Given the description of an element on the screen output the (x, y) to click on. 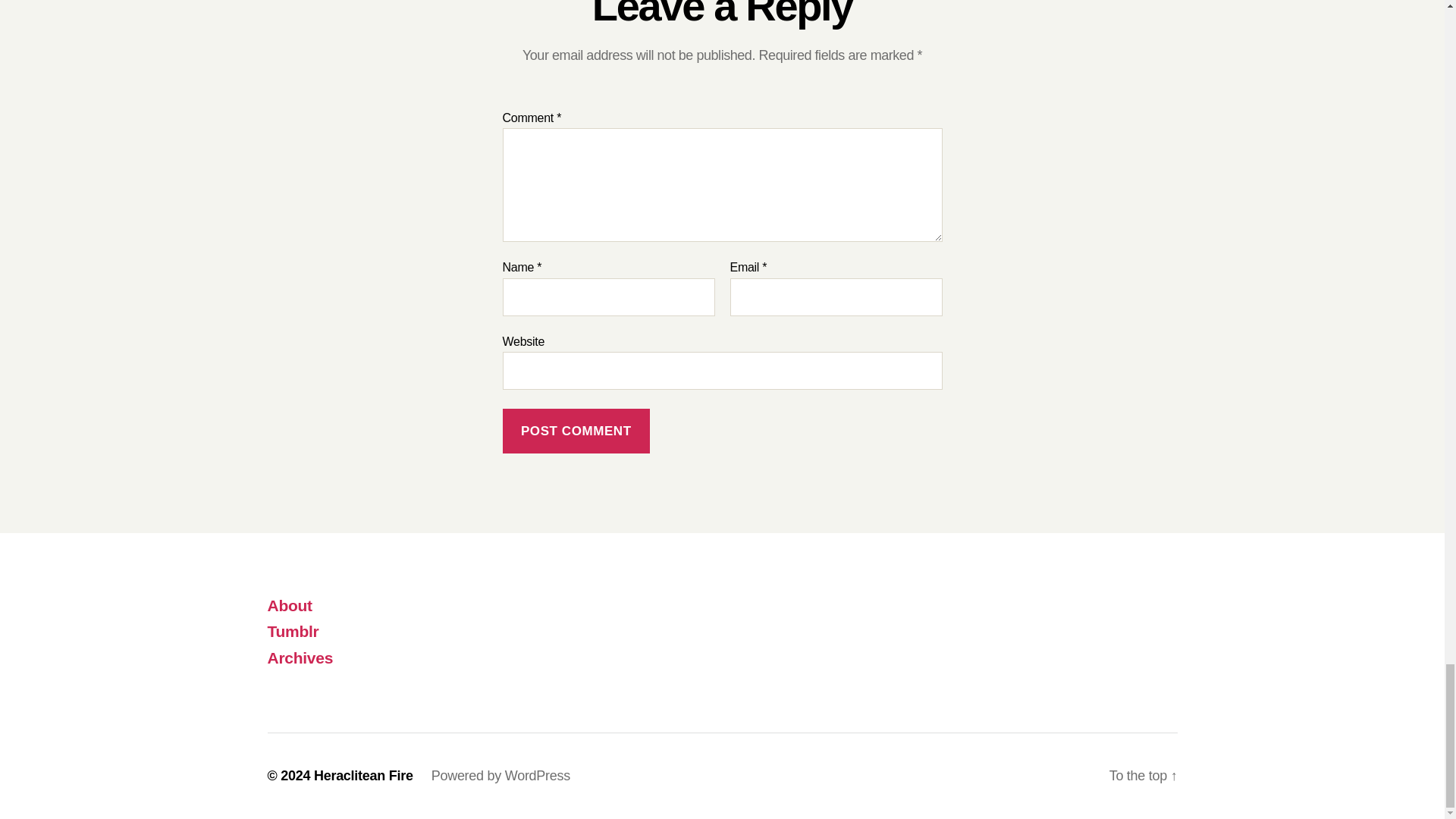
Post Comment (575, 430)
About (288, 605)
Post Comment (575, 430)
Heraclitean Fire (363, 775)
Powered by WordPress (500, 775)
Archives (299, 657)
Tumblr (292, 630)
